Given the description of an element on the screen output the (x, y) to click on. 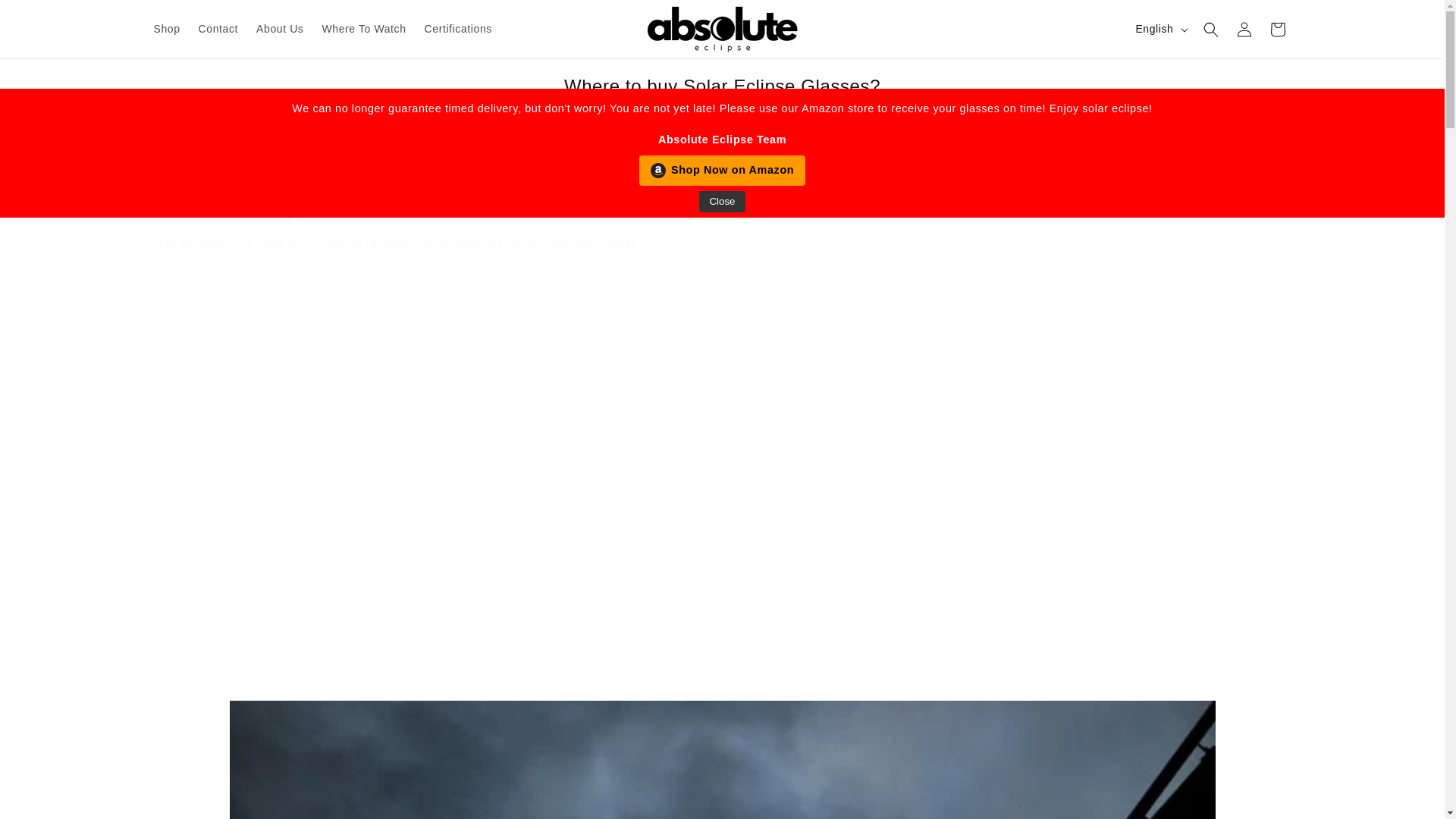
Shop (166, 29)
Contact (218, 29)
Buy on Amazon (293, 655)
About Us (280, 29)
Cart (1277, 28)
Skip to content (45, 17)
Solar Eclipse Glasses - Reflective (579, 595)
Solar Eclipse Glasses - Sunburst (292, 595)
Solar Eclipse Glasses - Neon Stickers (864, 595)
Log in (1243, 28)
Buy on Amazon (579, 655)
Buy on Amazon (865, 655)
Certifications (457, 29)
Solar Eclipse Glasses Available Online (721, 206)
